Given the description of an element on the screen output the (x, y) to click on. 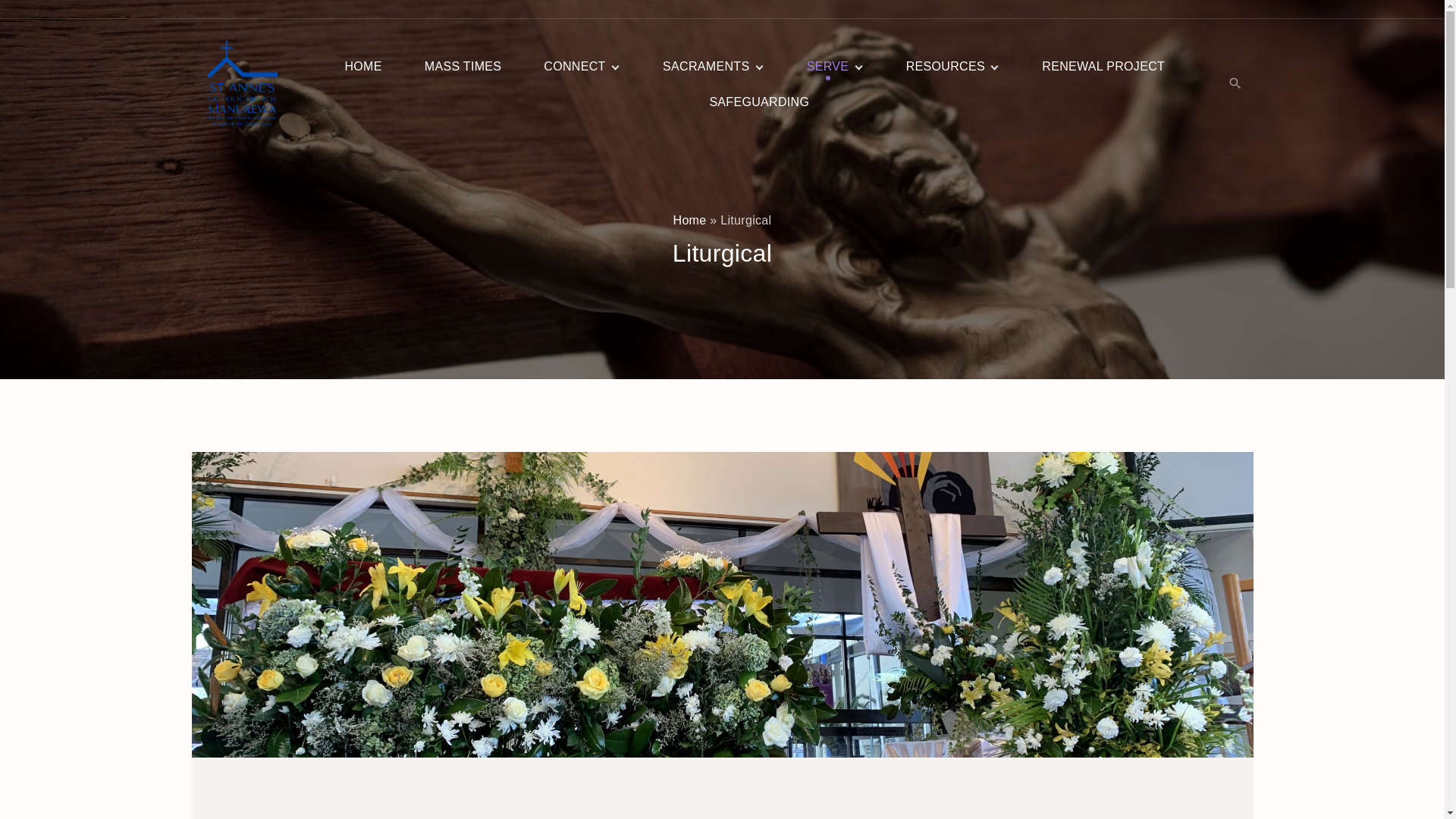
SAFEGUARDING (759, 102)
HOME (362, 66)
SACRAMENTS (706, 66)
SERVE (828, 66)
Home (689, 219)
CONNECT (575, 66)
RESOURCES (946, 66)
MASS TIMES (463, 66)
RENEWAL PROJECT (1103, 66)
